Given the description of an element on the screen output the (x, y) to click on. 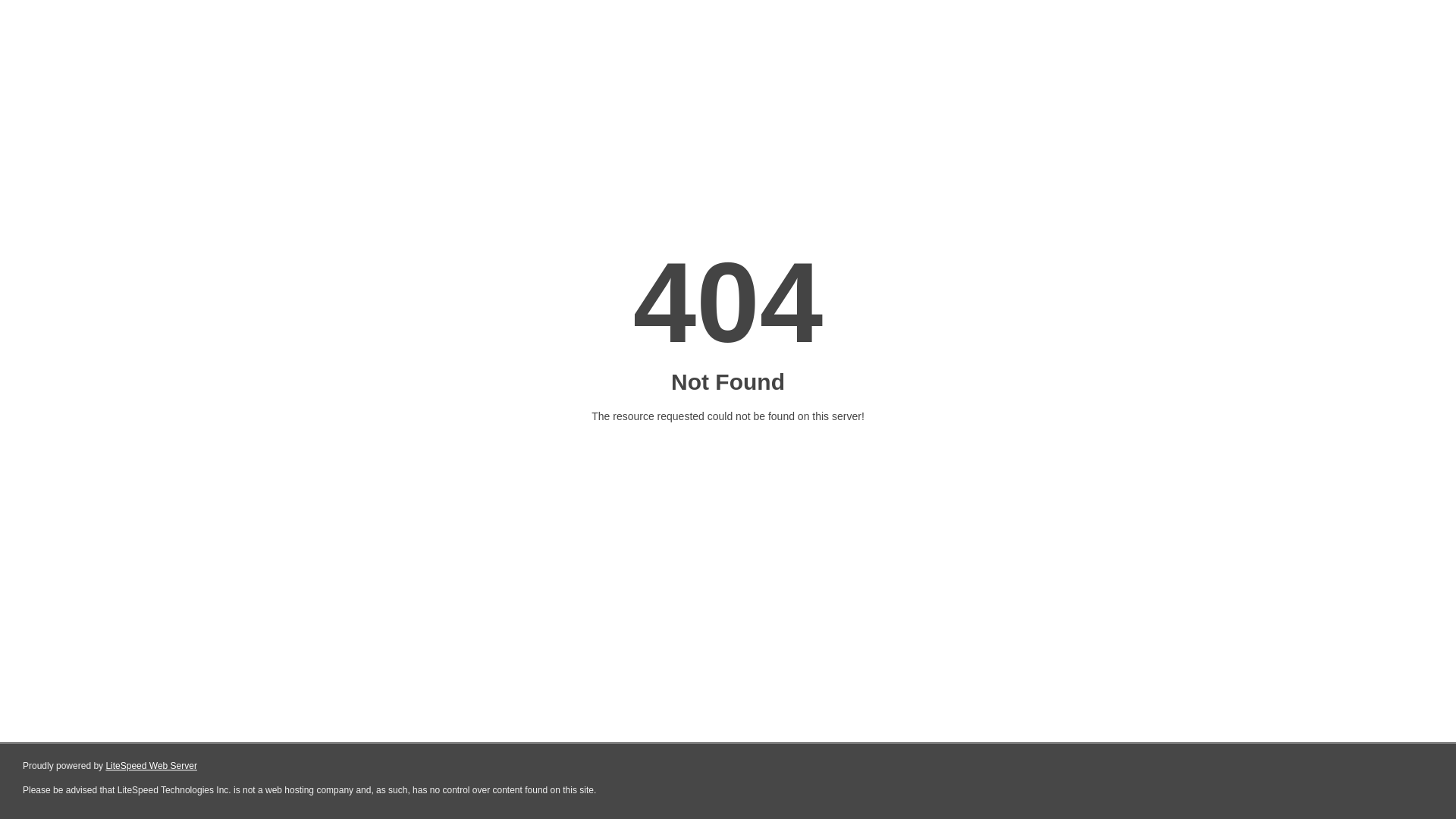
LiteSpeed Web Server (150, 765)
